Given the description of an element on the screen output the (x, y) to click on. 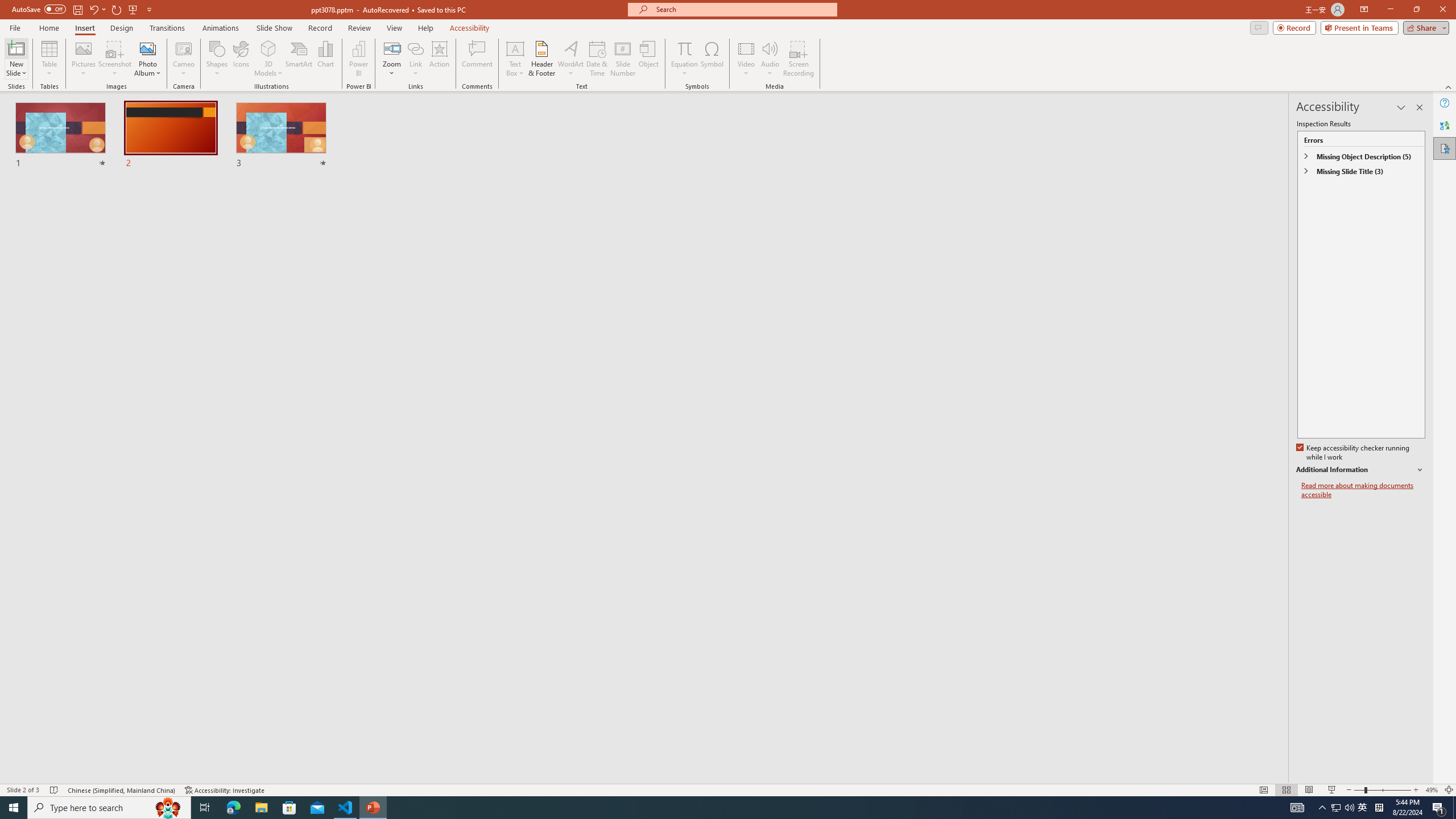
WordArt (570, 58)
Header & Footer... (541, 58)
Action (439, 58)
Screen Recording... (798, 58)
Date & Time... (596, 58)
